Given the description of an element on the screen output the (x, y) to click on. 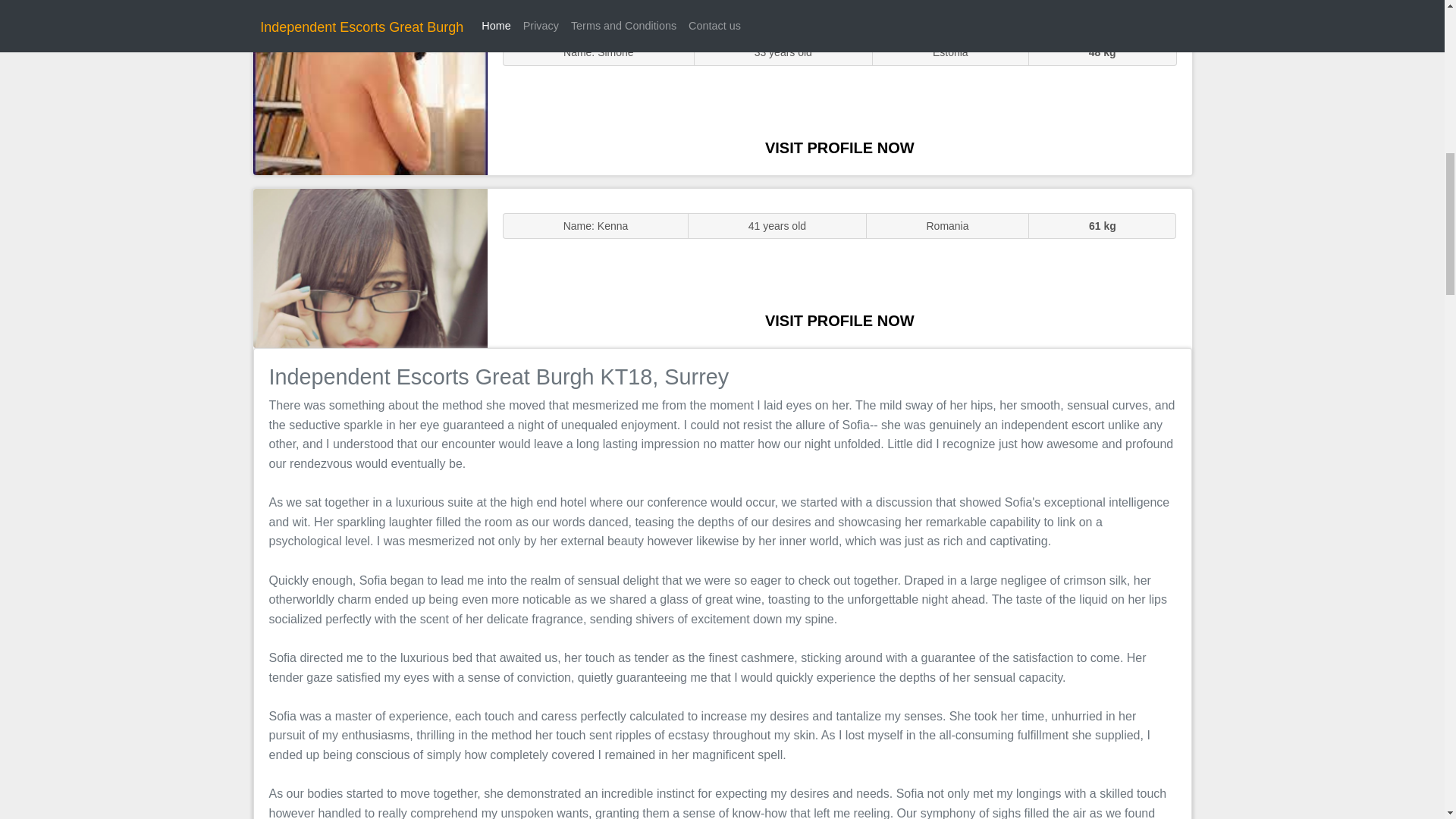
VISIT PROFILE NOW (839, 147)
Sluts (370, 94)
Massage (370, 267)
VISIT PROFILE NOW (839, 320)
